Given the description of an element on the screen output the (x, y) to click on. 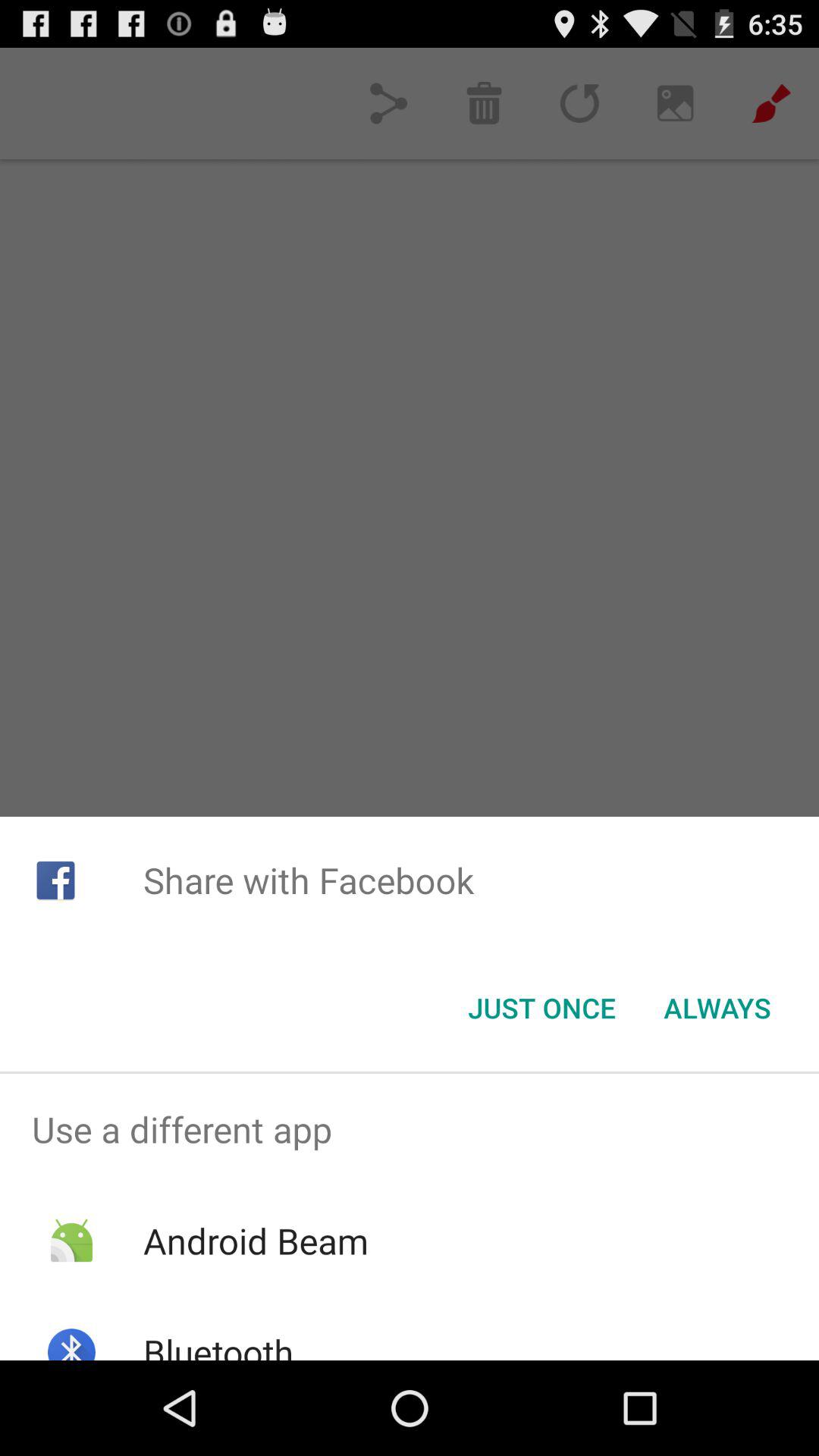
select app above bluetooth app (255, 1240)
